Given the description of an element on the screen output the (x, y) to click on. 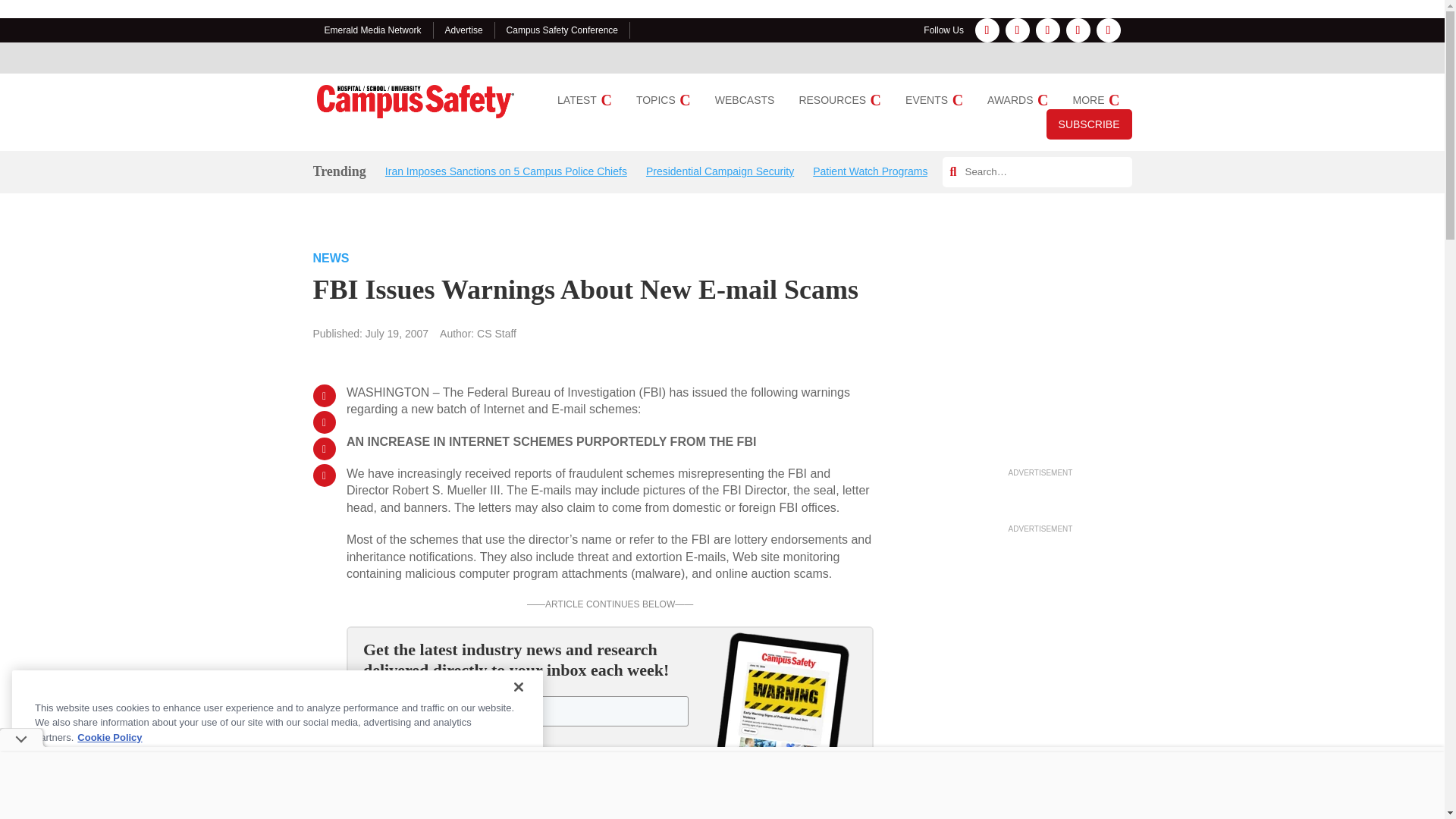
Follow on Instagram (1017, 30)
Follow on X (1077, 30)
Embedded CTA (610, 722)
Follow on LinkedIn (1047, 30)
Advertise (464, 30)
Follow on Facebook (986, 30)
Follow on Youtube (1108, 30)
Campus Safety Conference (561, 30)
3rd party ad content (1040, 369)
Emerald Media Network (373, 30)
TOPICS (663, 100)
LATEST (584, 100)
